Given the description of an element on the screen output the (x, y) to click on. 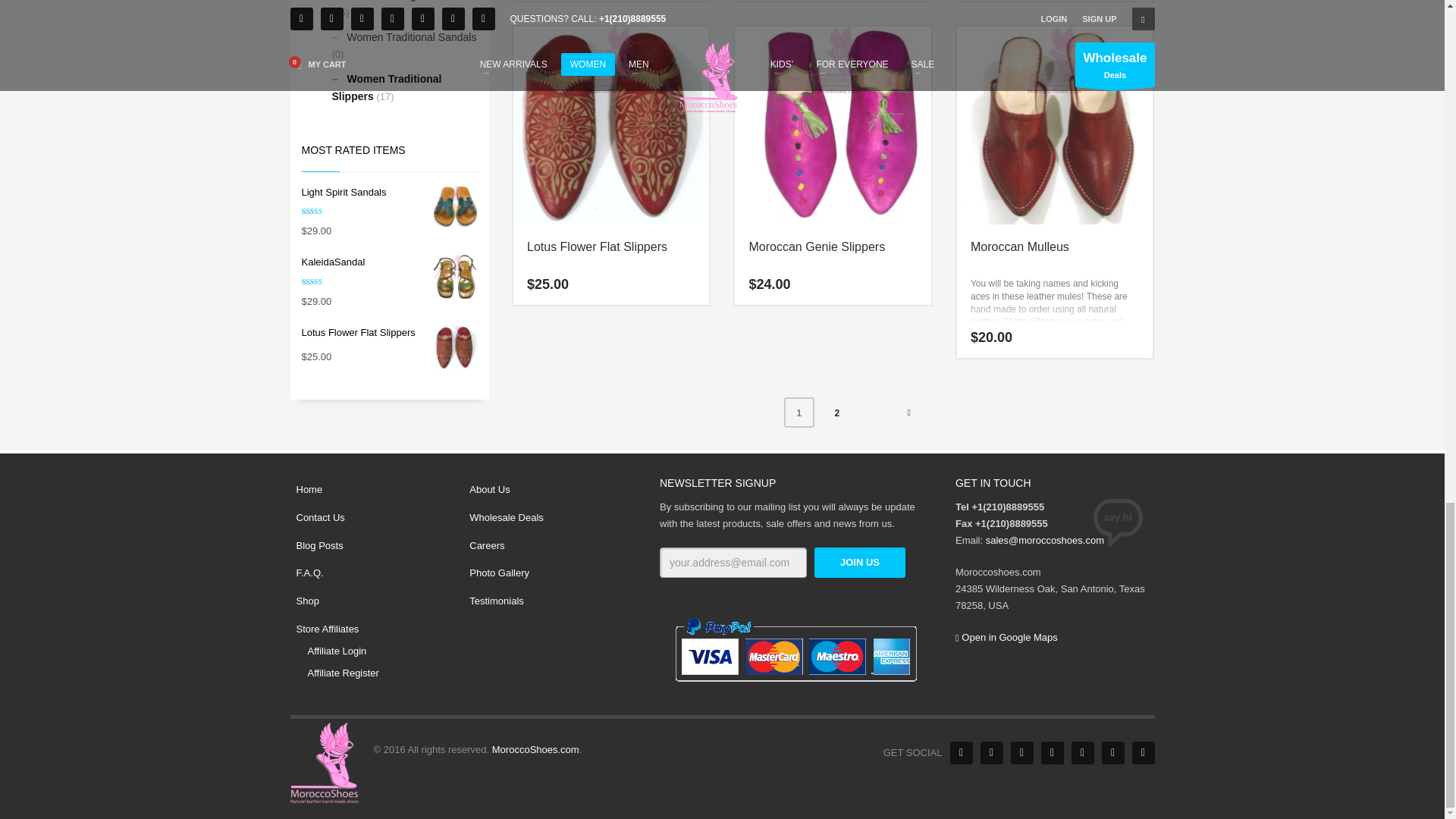
JOIN US (859, 562)
